Given the description of an element on the screen output the (x, y) to click on. 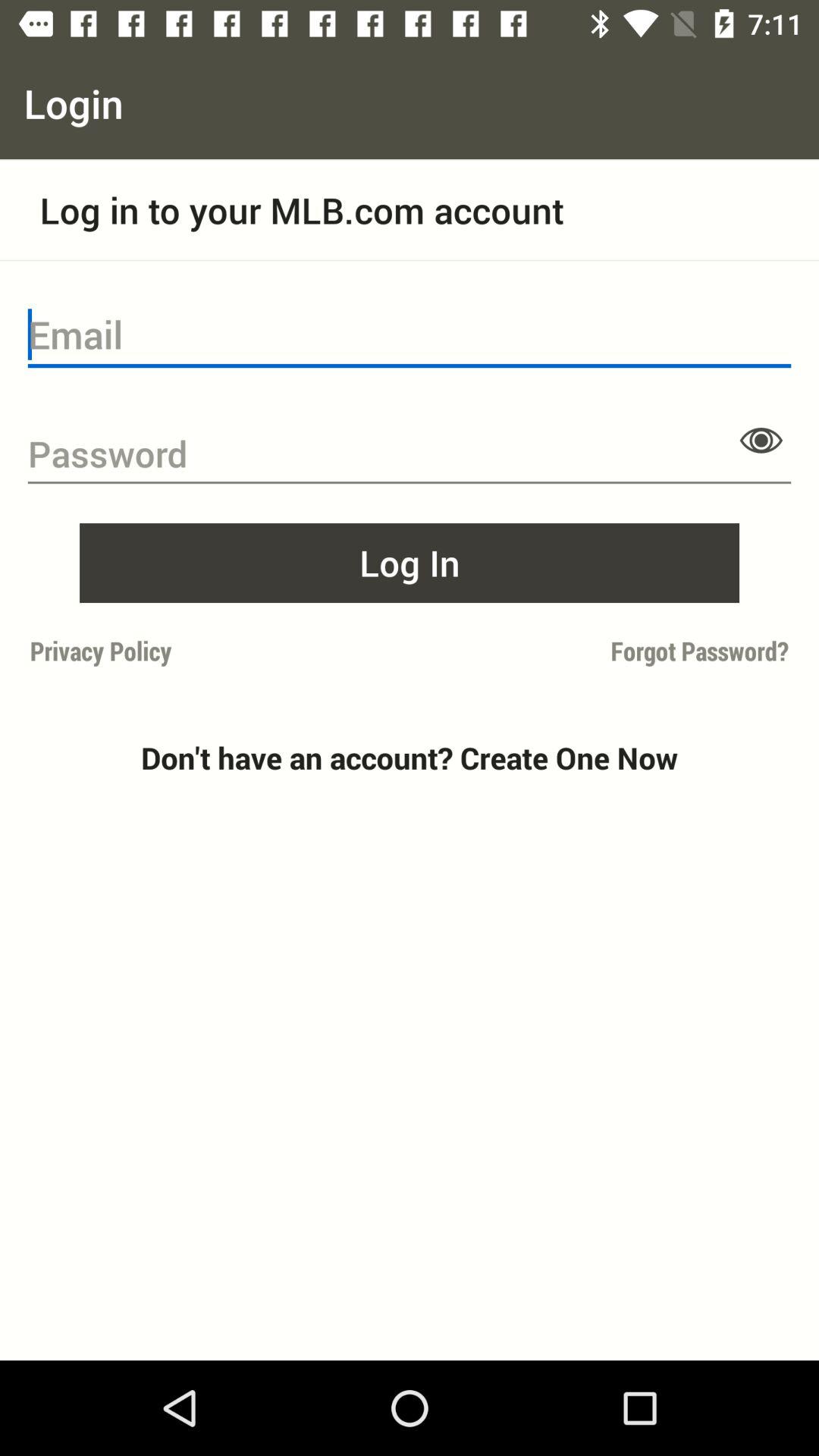
turn off the icon below the privacy policy item (409, 757)
